Given the description of an element on the screen output the (x, y) to click on. 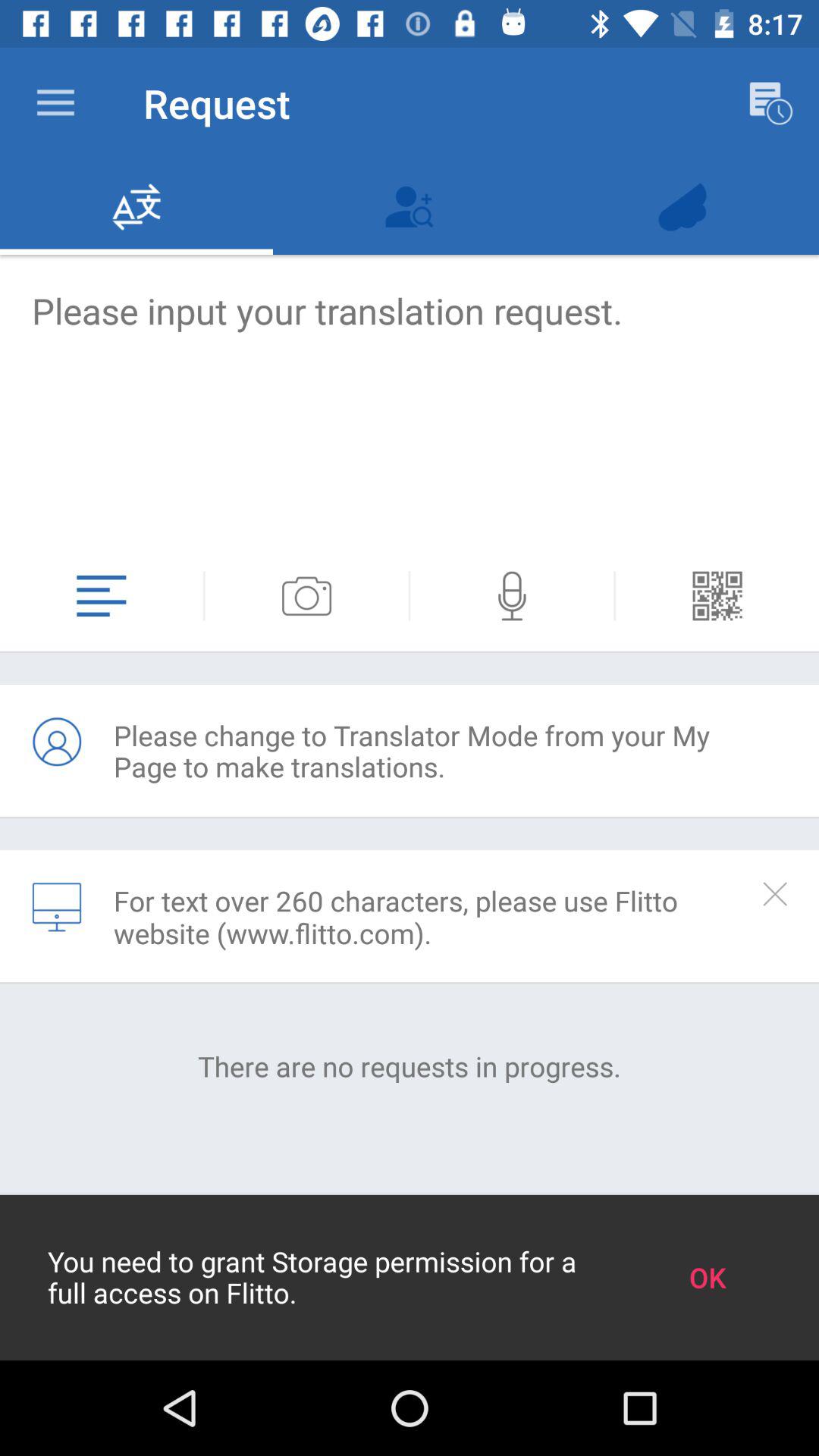
choose the item above the there are no icon (1, 916)
